Given the description of an element on the screen output the (x, y) to click on. 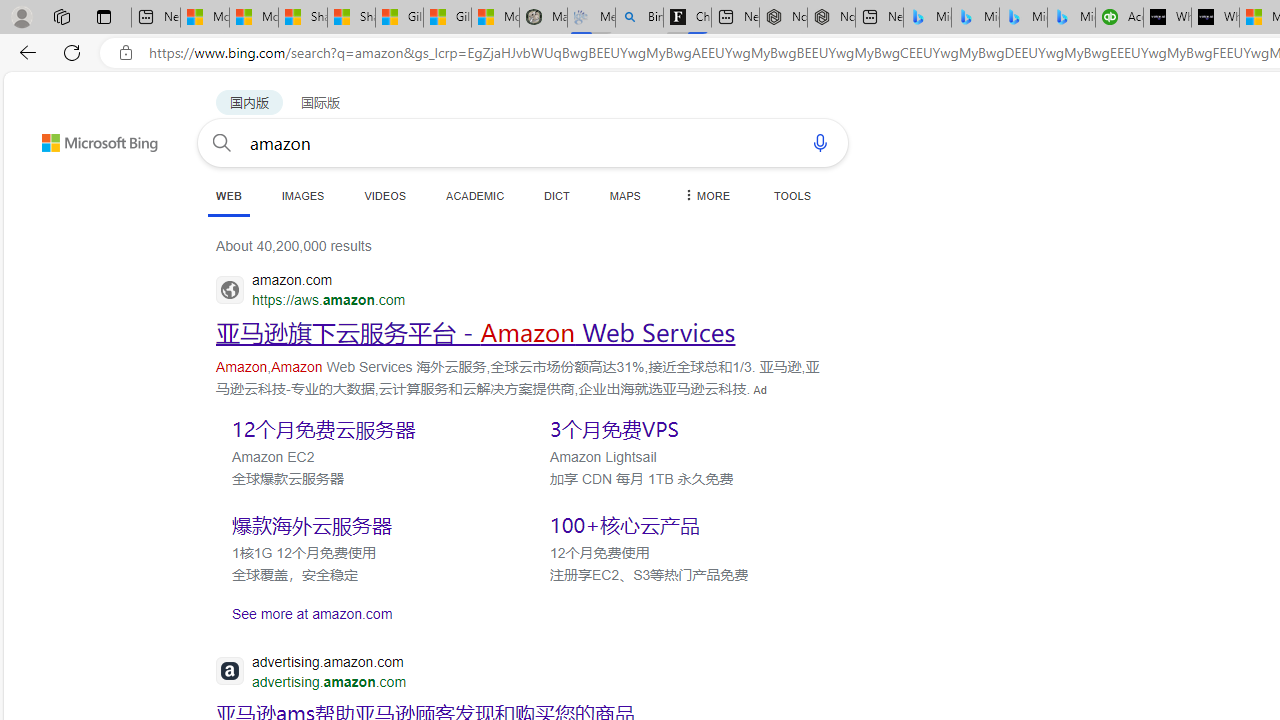
DICT (557, 195)
SERP,5553 (683, 525)
What's the best AI voice generator? - voice.ai (1215, 17)
Accounting Software for Accountants, CPAs and Bookkeepers (1119, 17)
ACADEMIC (475, 195)
Back to Bing search (87, 138)
MORE (705, 195)
ACADEMIC (475, 195)
VIDEOS (384, 195)
IMAGES (302, 195)
Back (24, 52)
MAPS (624, 195)
See more at amazon.com (520, 613)
